Given the description of an element on the screen output the (x, y) to click on. 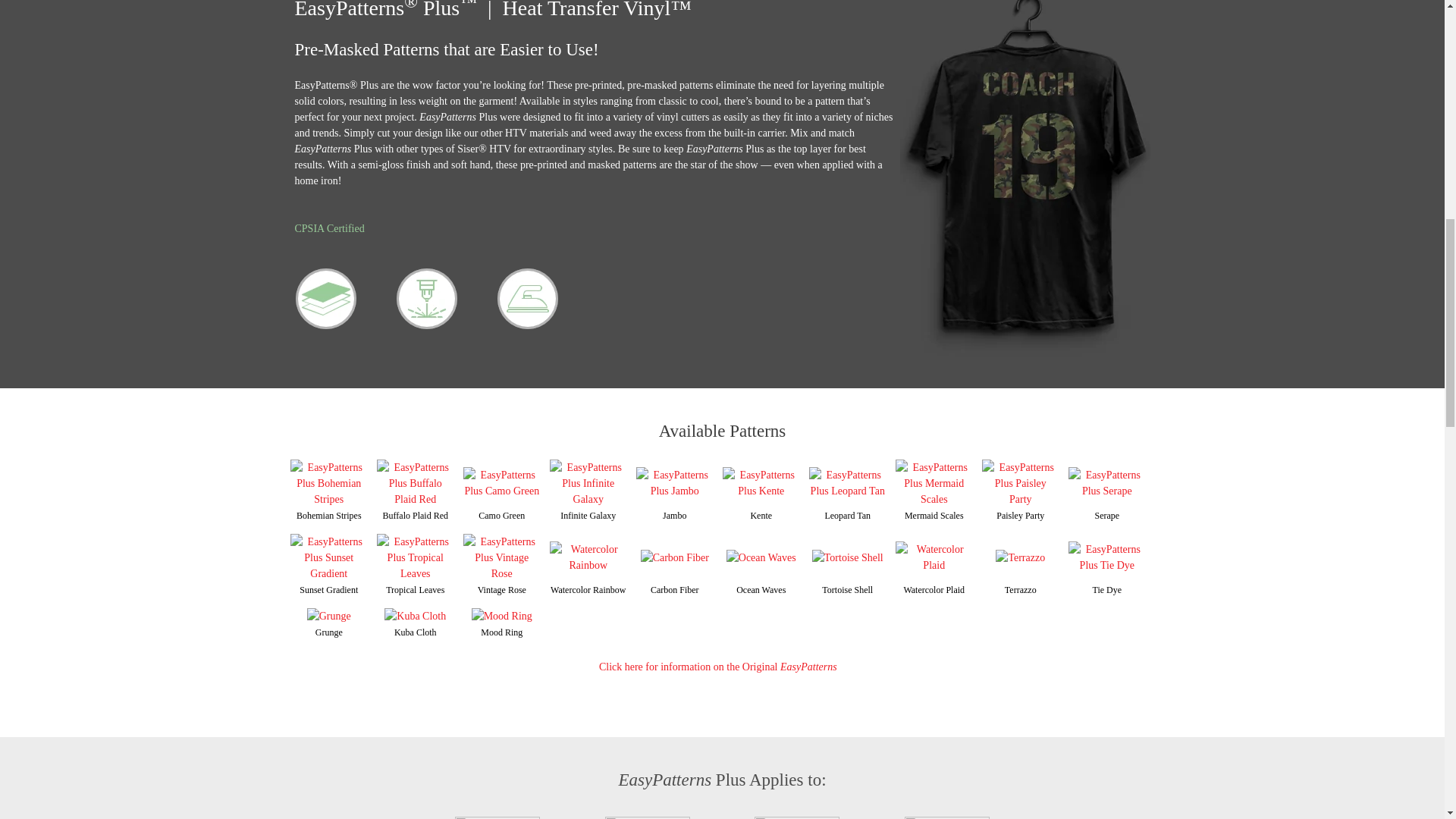
EasyPatterns Plus Jambo (674, 482)
EasyPatterns Plus Buffalo Plaid Red (414, 482)
Laser Friendly (426, 298)
EasyPatterns Plus Camo Green (501, 482)
CPSIA (329, 228)
Pre-Masked (325, 298)
Iron On (527, 298)
EasyPatterns Plus Kente (760, 482)
EasyPatterns Plus Infinite Galaxy (588, 482)
EasyPatterns Plus Bohemian Stripes (327, 482)
